Given the description of an element on the screen output the (x, y) to click on. 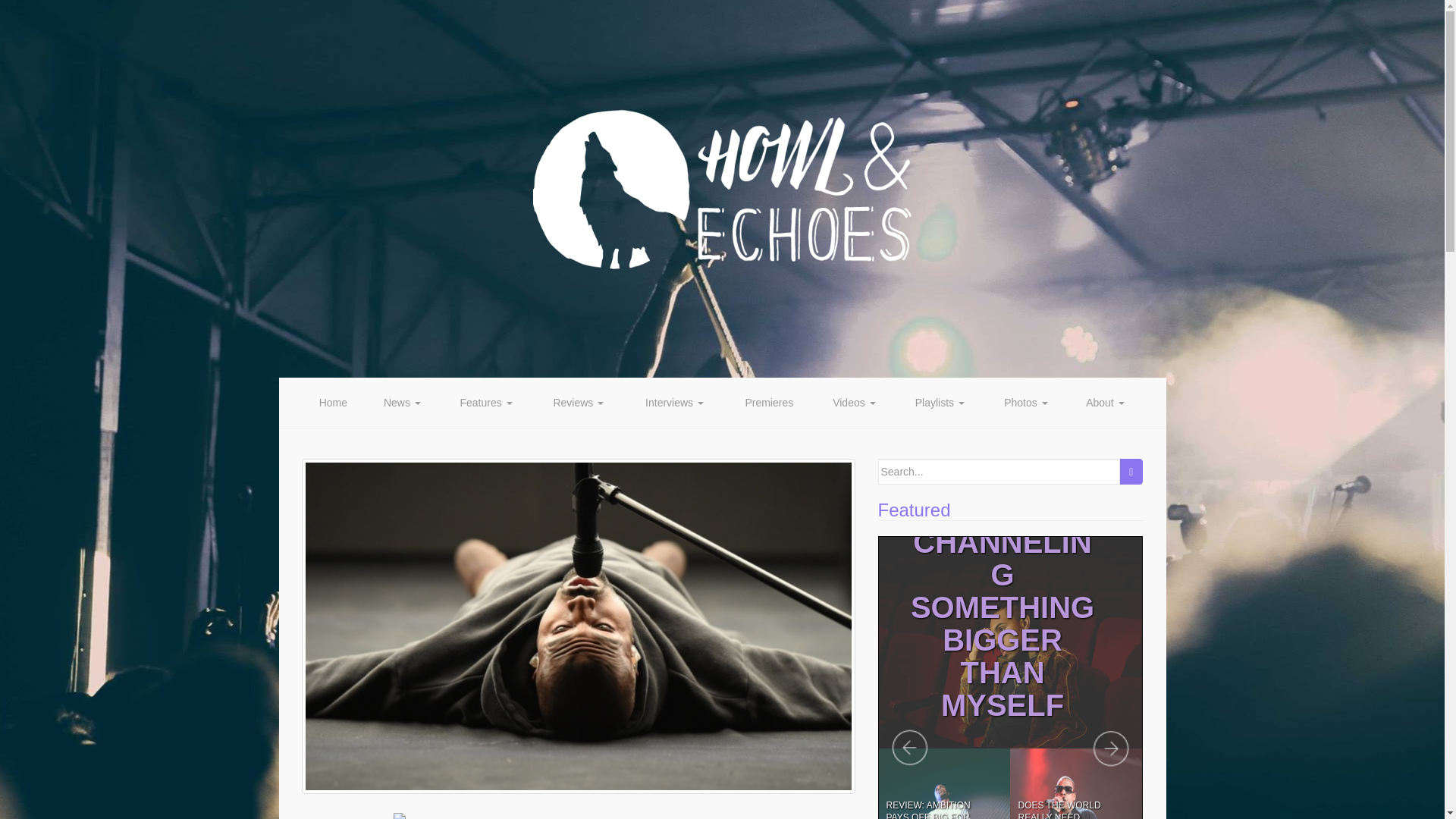
Features (485, 402)
About (1104, 402)
Home (333, 402)
Reviews (578, 402)
Features (485, 402)
Reviews (578, 402)
News (402, 402)
Home (333, 402)
Photos (1026, 402)
Interviews (674, 402)
Interviews (674, 402)
Videos (854, 402)
Playlists (939, 402)
Premieres (769, 402)
News (402, 402)
